Given the description of an element on the screen output the (x, y) to click on. 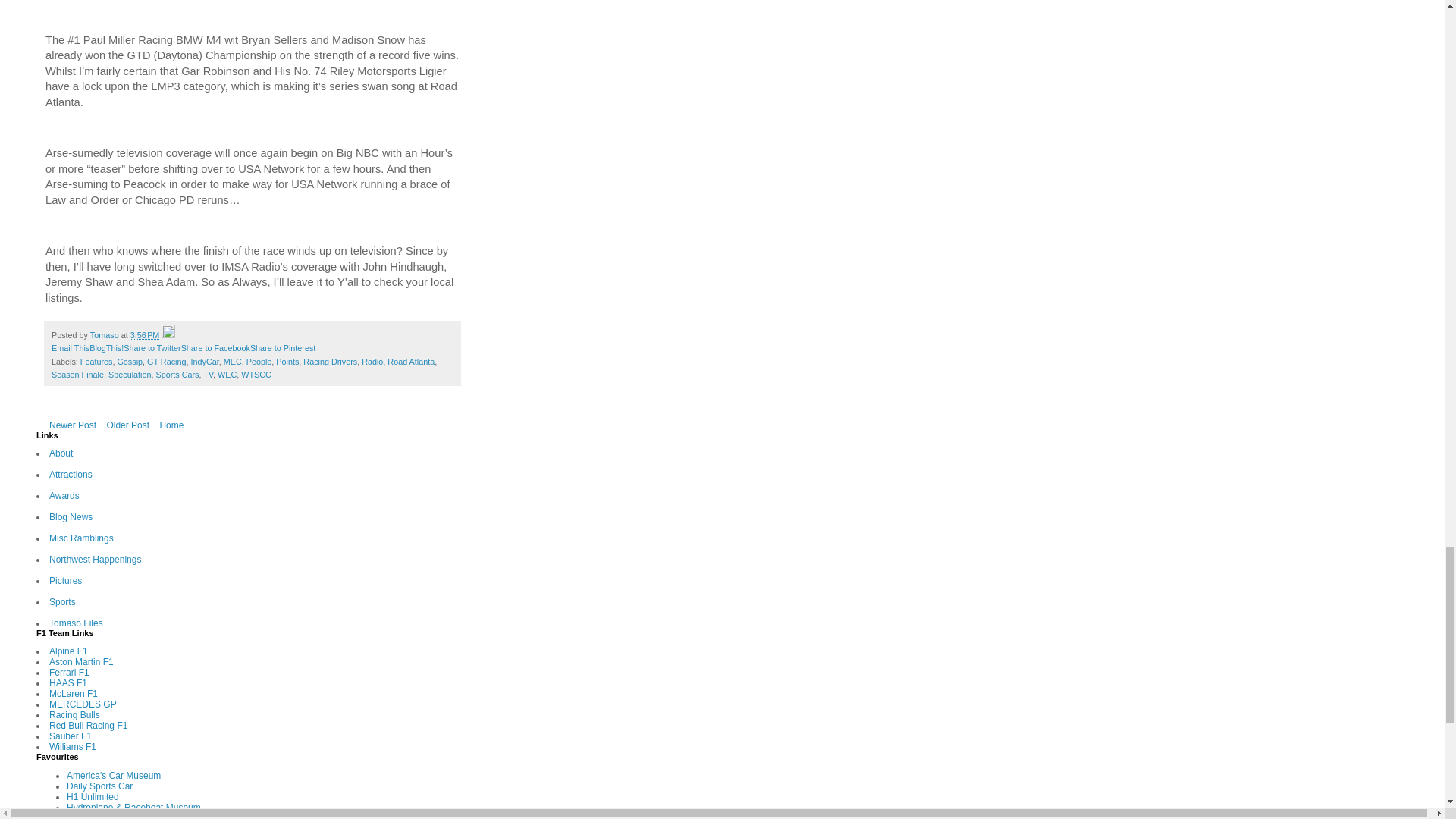
Sports Cars (176, 374)
Share to Twitter (151, 347)
WEC (225, 374)
Attractions (71, 474)
permanent link (145, 334)
IndyCar (204, 361)
About (60, 452)
Blog News (71, 516)
Northwest Happenings (95, 559)
